Given the description of an element on the screen output the (x, y) to click on. 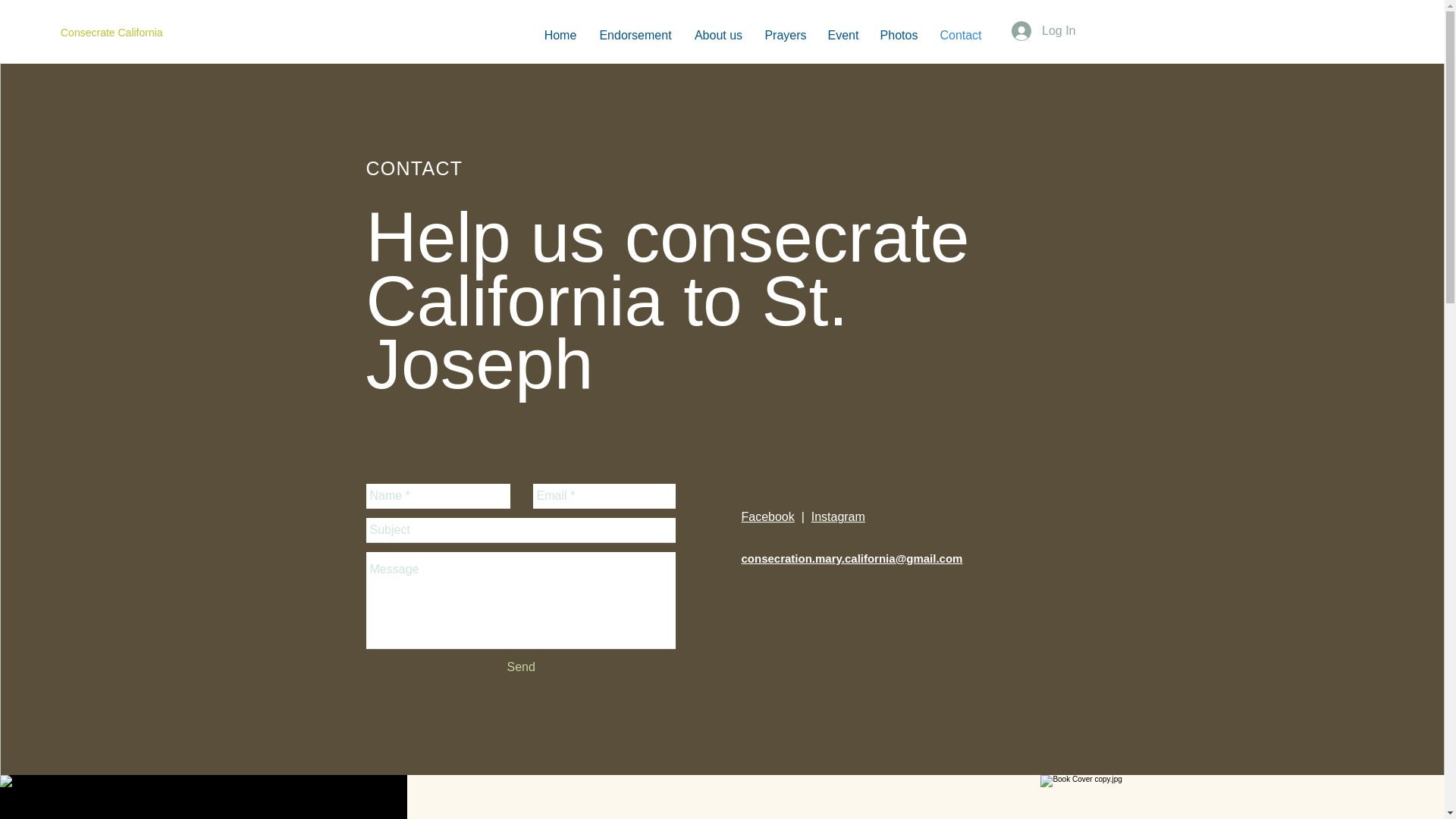
Prayers (785, 35)
Home (560, 35)
Endorsement (635, 35)
Send (520, 667)
Contact (960, 35)
Event (842, 35)
Photos (898, 35)
About us (718, 35)
Facebook (767, 516)
Log In (1043, 30)
